Given the description of an element on the screen output the (x, y) to click on. 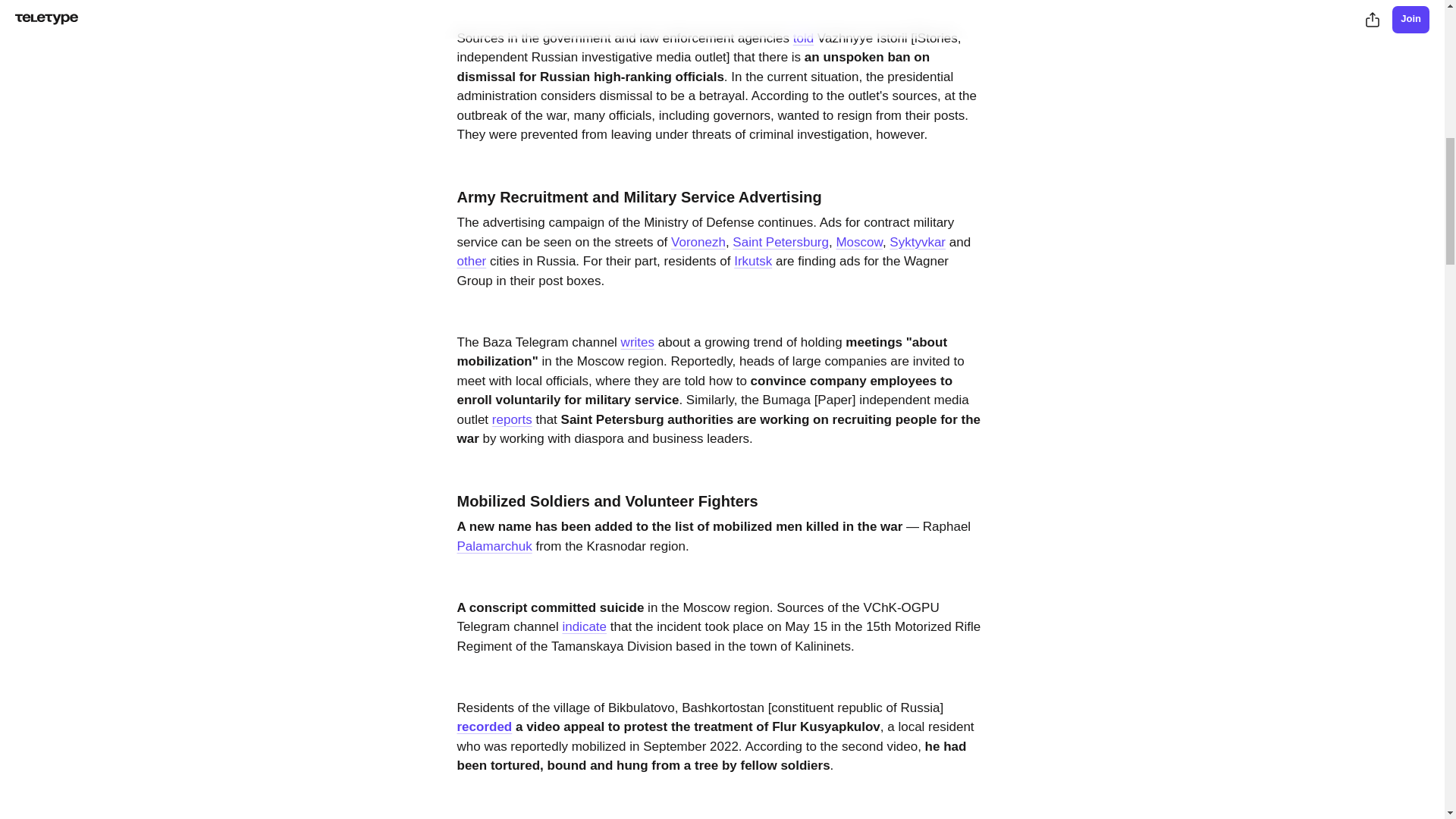
reports (512, 419)
Syktyvkar (916, 242)
Irkutsk (752, 260)
Saint Petersburg (780, 242)
told (803, 38)
writes (637, 341)
Voronezh (698, 242)
Moscow (858, 242)
other (471, 260)
Palamarchuk (494, 545)
